Given the description of an element on the screen output the (x, y) to click on. 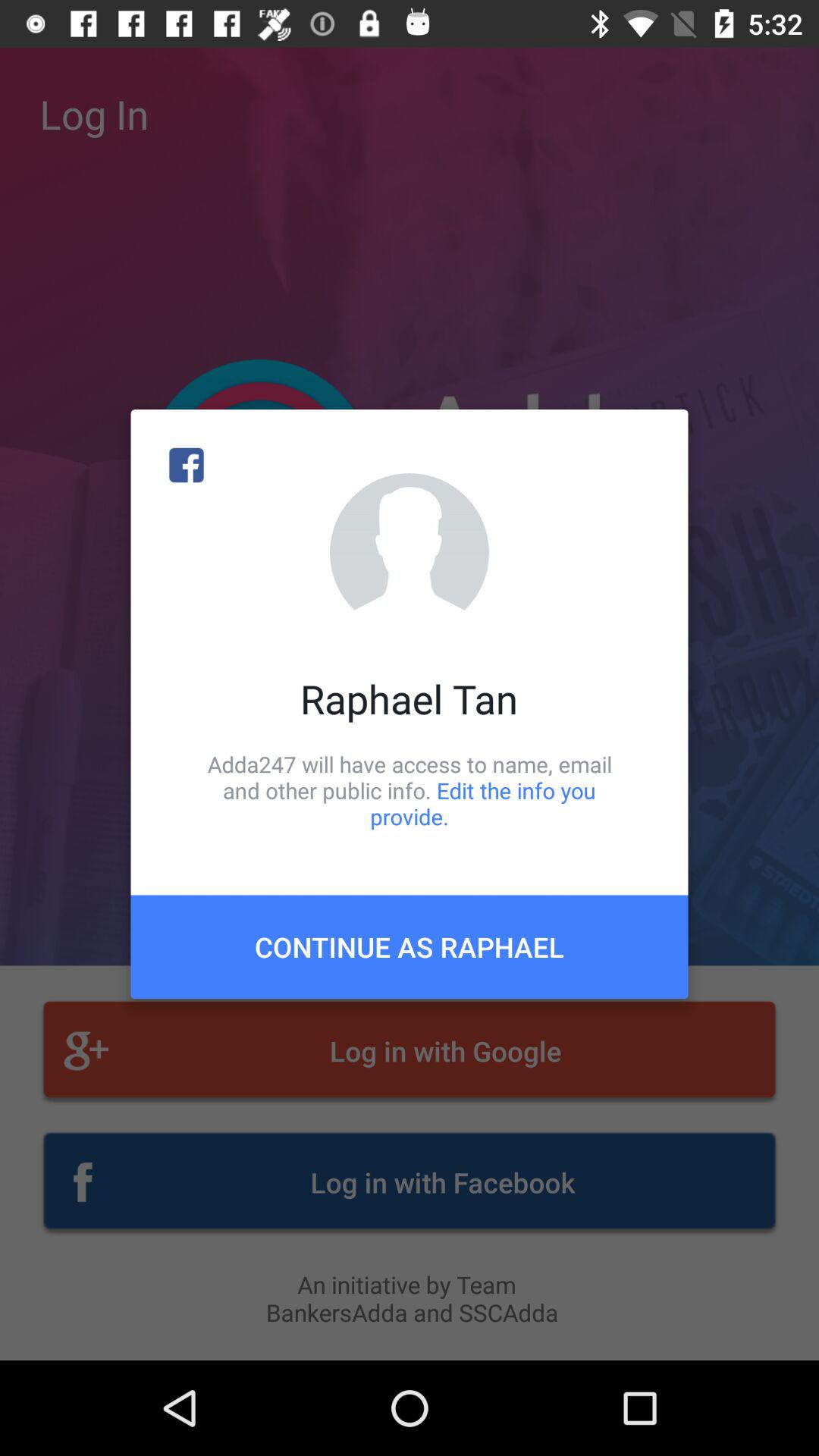
jump until adda247 will have (409, 790)
